Given the description of an element on the screen output the (x, y) to click on. 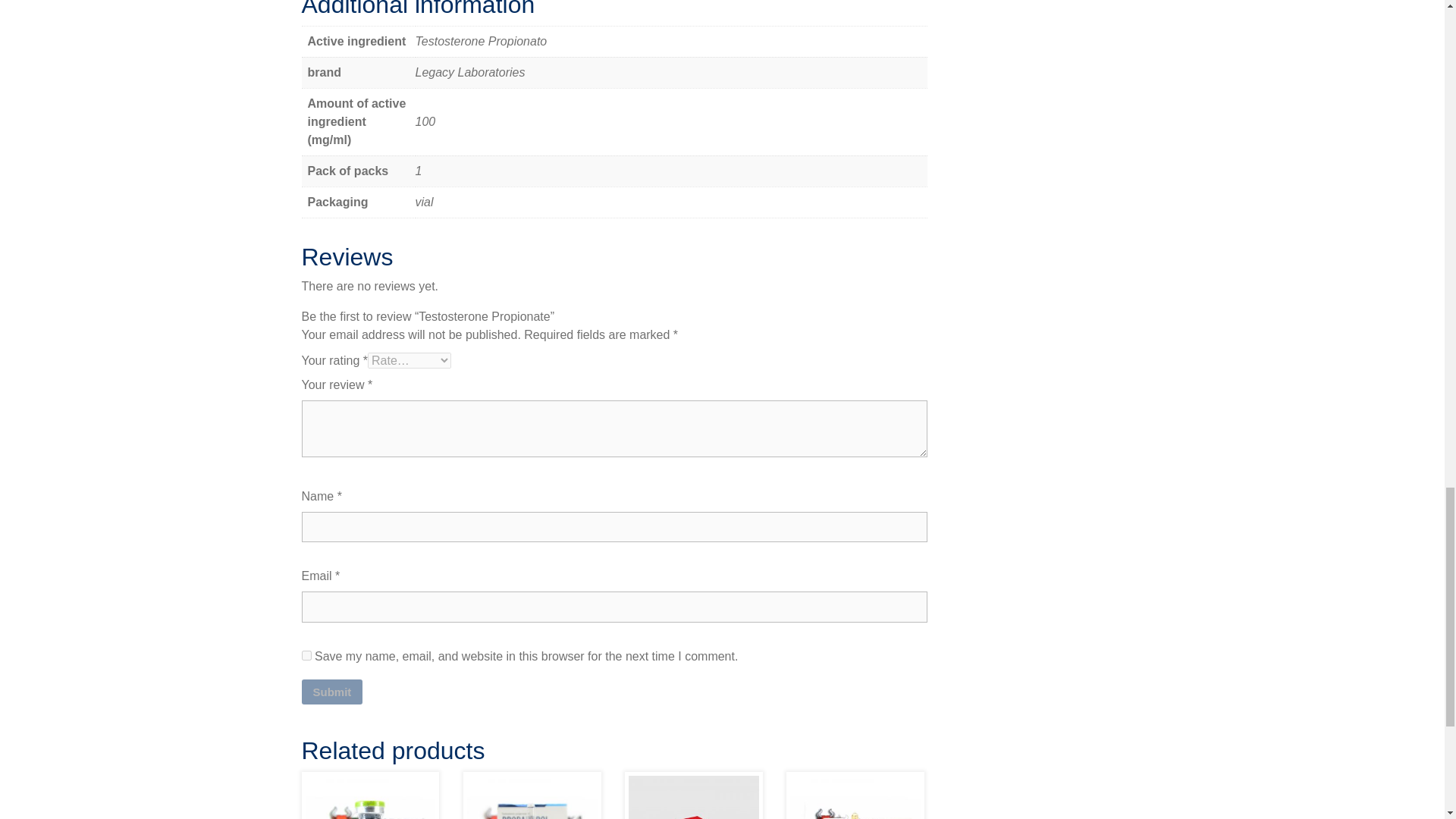
Submit (331, 692)
Submit (331, 692)
yes (306, 655)
